Given the description of an element on the screen output the (x, y) to click on. 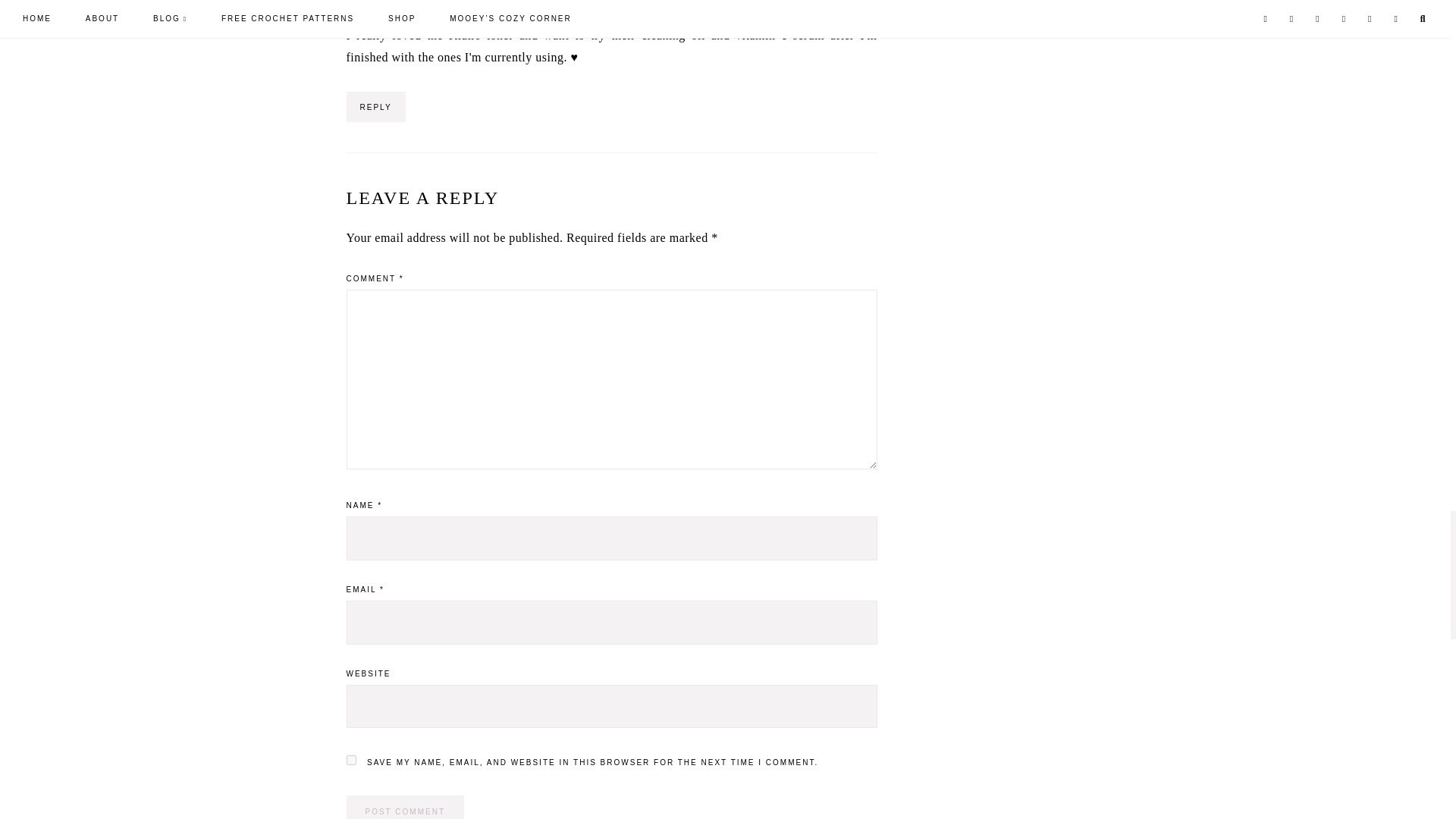
Post Comment (404, 807)
yes (350, 759)
